Given the description of an element on the screen output the (x, y) to click on. 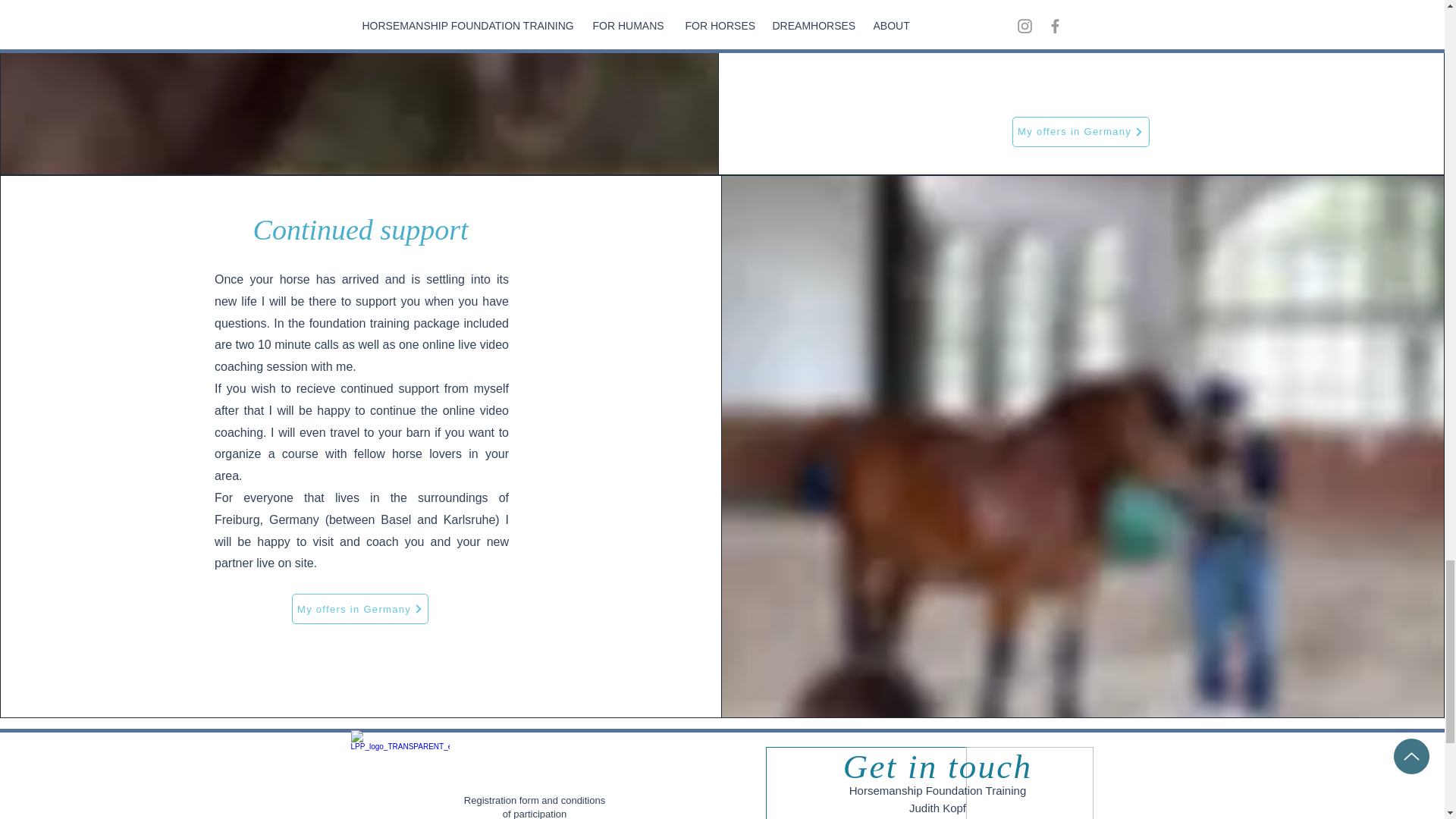
My offers in Germany (1080, 132)
My offers in Germany (360, 608)
